Given the description of an element on the screen output the (x, y) to click on. 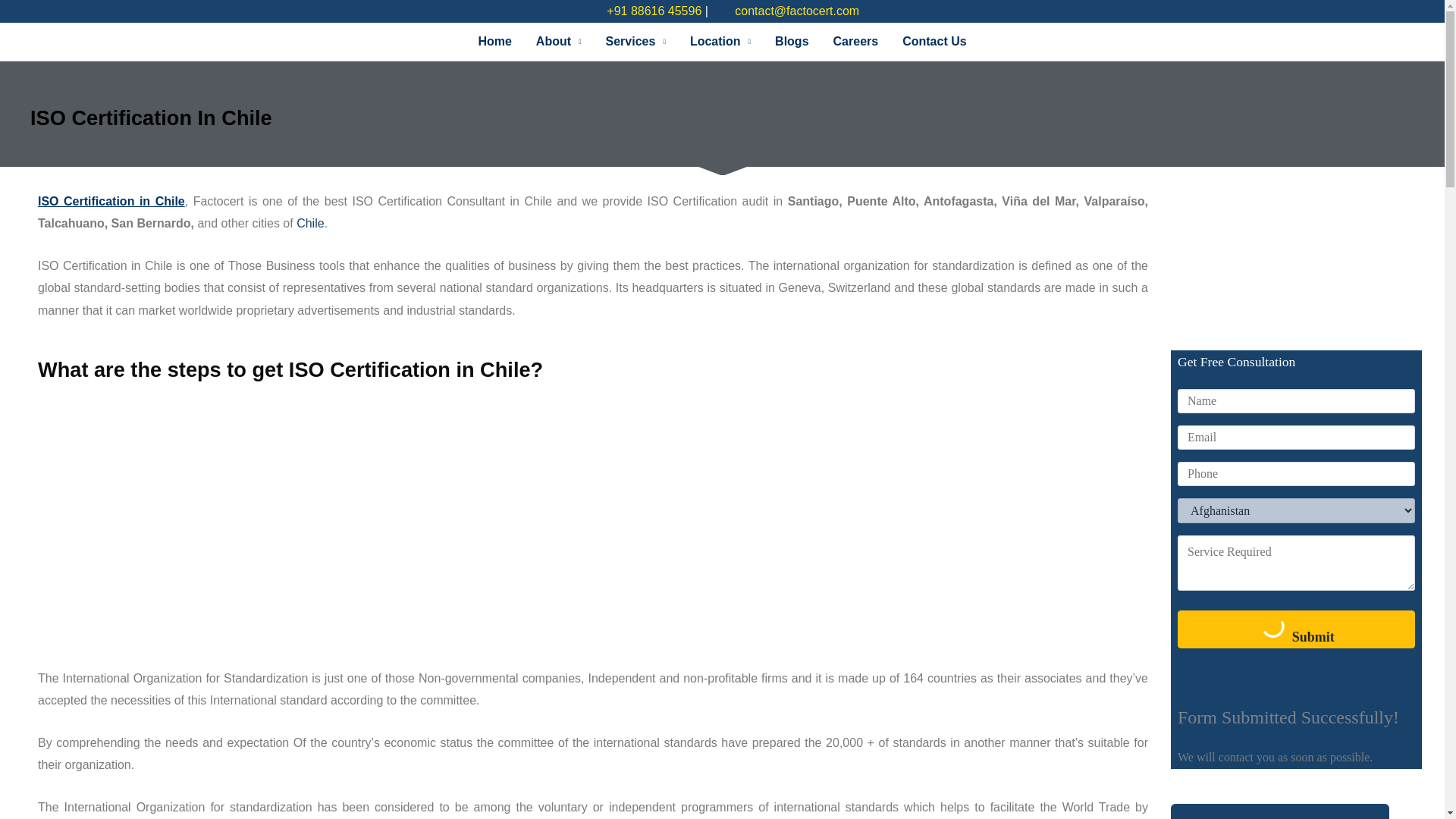
Home (493, 41)
Services (636, 41)
About (559, 41)
